Given the description of an element on the screen output the (x, y) to click on. 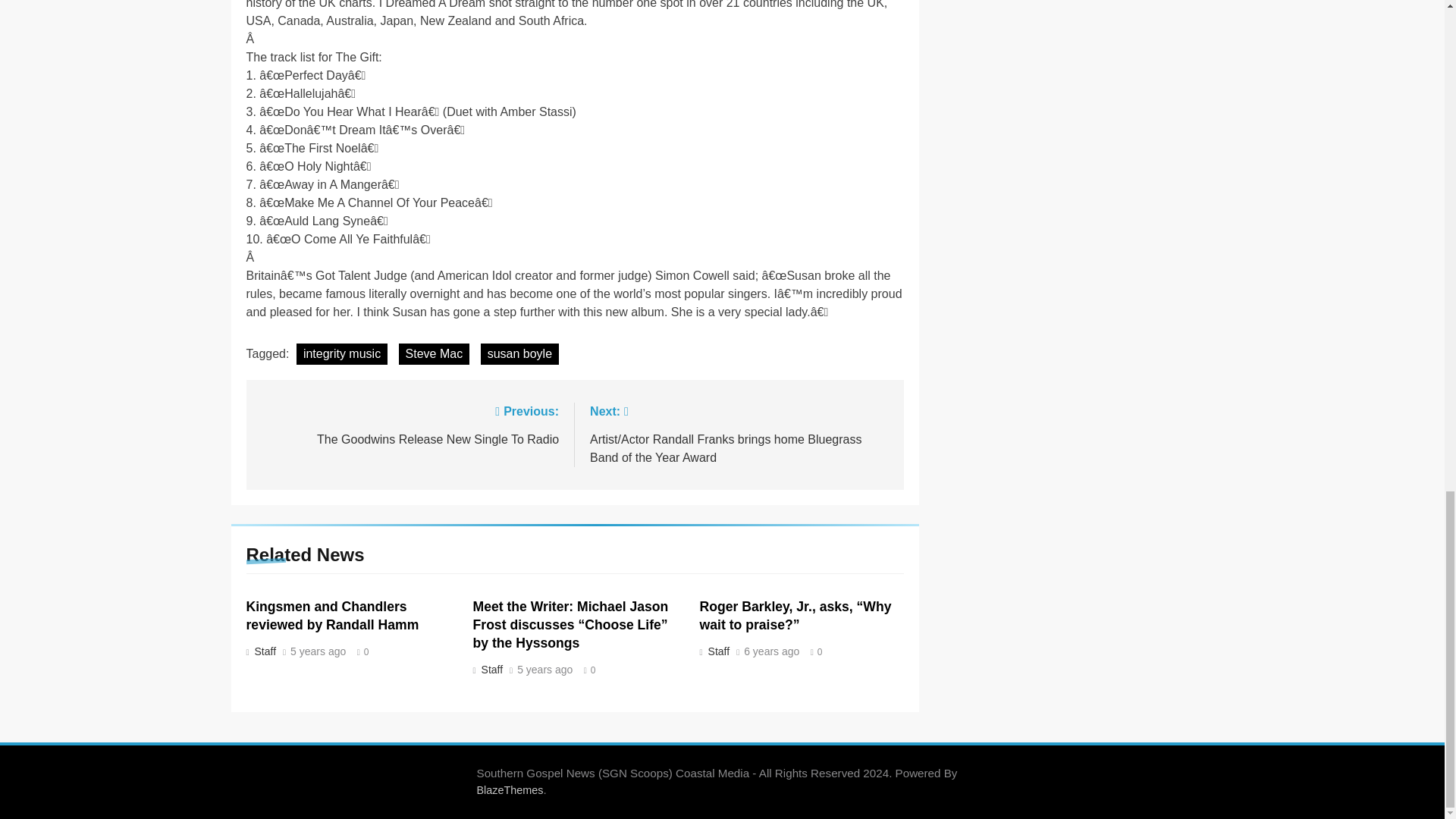
5 years ago (544, 670)
Staff (717, 651)
6 years ago (771, 652)
Staff (263, 651)
5 years ago (317, 652)
Steve Mac (434, 353)
integrity music (342, 353)
Staff (490, 669)
Kingsmen and Chandlers reviewed by Randall Hamm (332, 615)
susan boyle (519, 353)
